Given the description of an element on the screen output the (x, y) to click on. 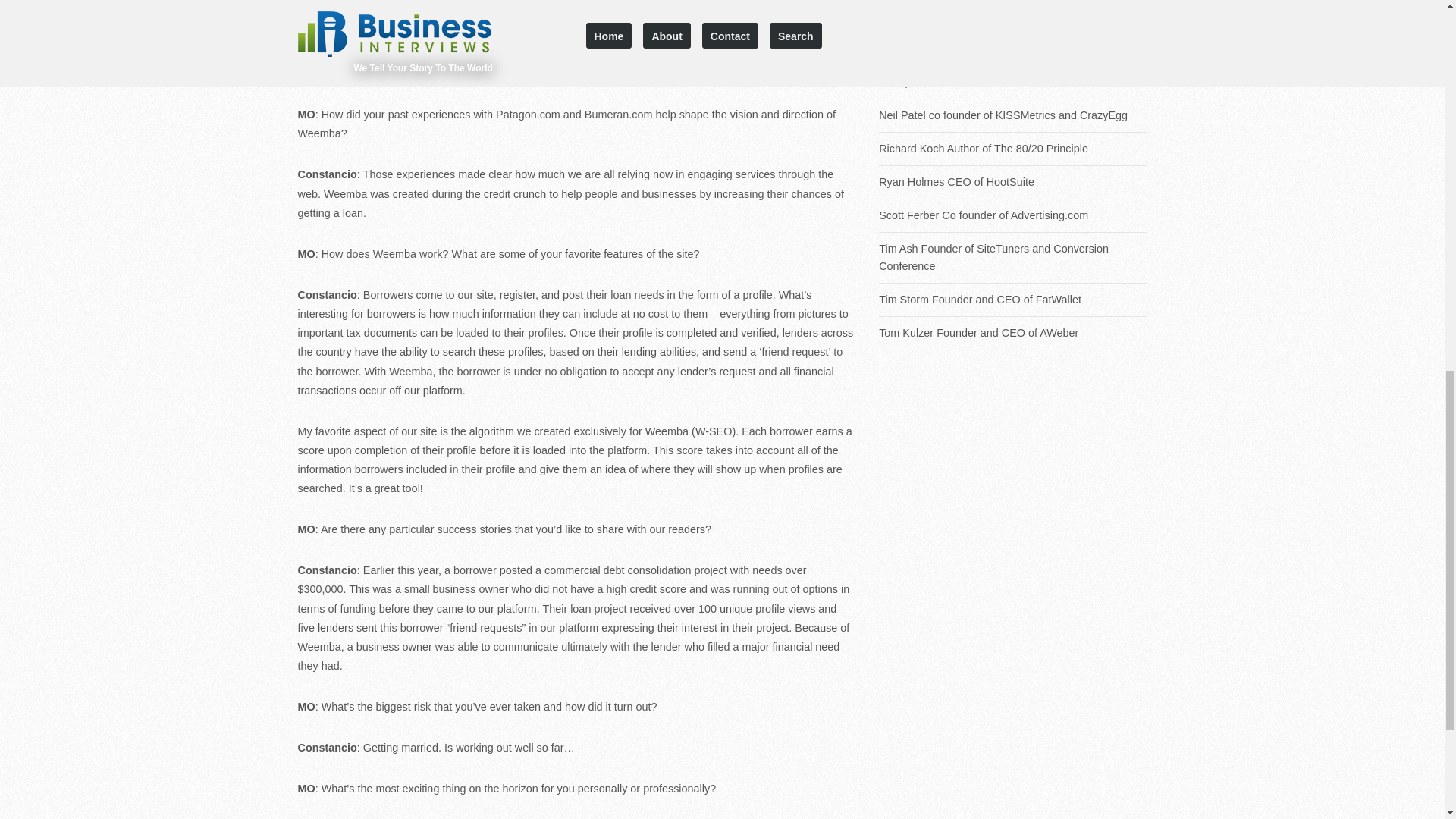
Mike Michalowicz Author of "The Toilet Paper Entrepreneur." (1013, 73)
Marc Ostrofsky Business.com and Author of Get Rich Click (1013, 21)
Ryan Holmes CEO of HootSuite (1013, 181)
Tom Kulzer Founder and CEO of AWeber (1013, 333)
Neil Patel co founder of KISSMetrics and CrazyEgg (1013, 115)
Tim Storm Founder and CEO of FatWallet (1013, 299)
Scott Ferber Co founder of Advertising.com (1013, 215)
Tim Ash Founder of SiteTuners and Conversion Conference (1013, 257)
